Given the description of an element on the screen output the (x, y) to click on. 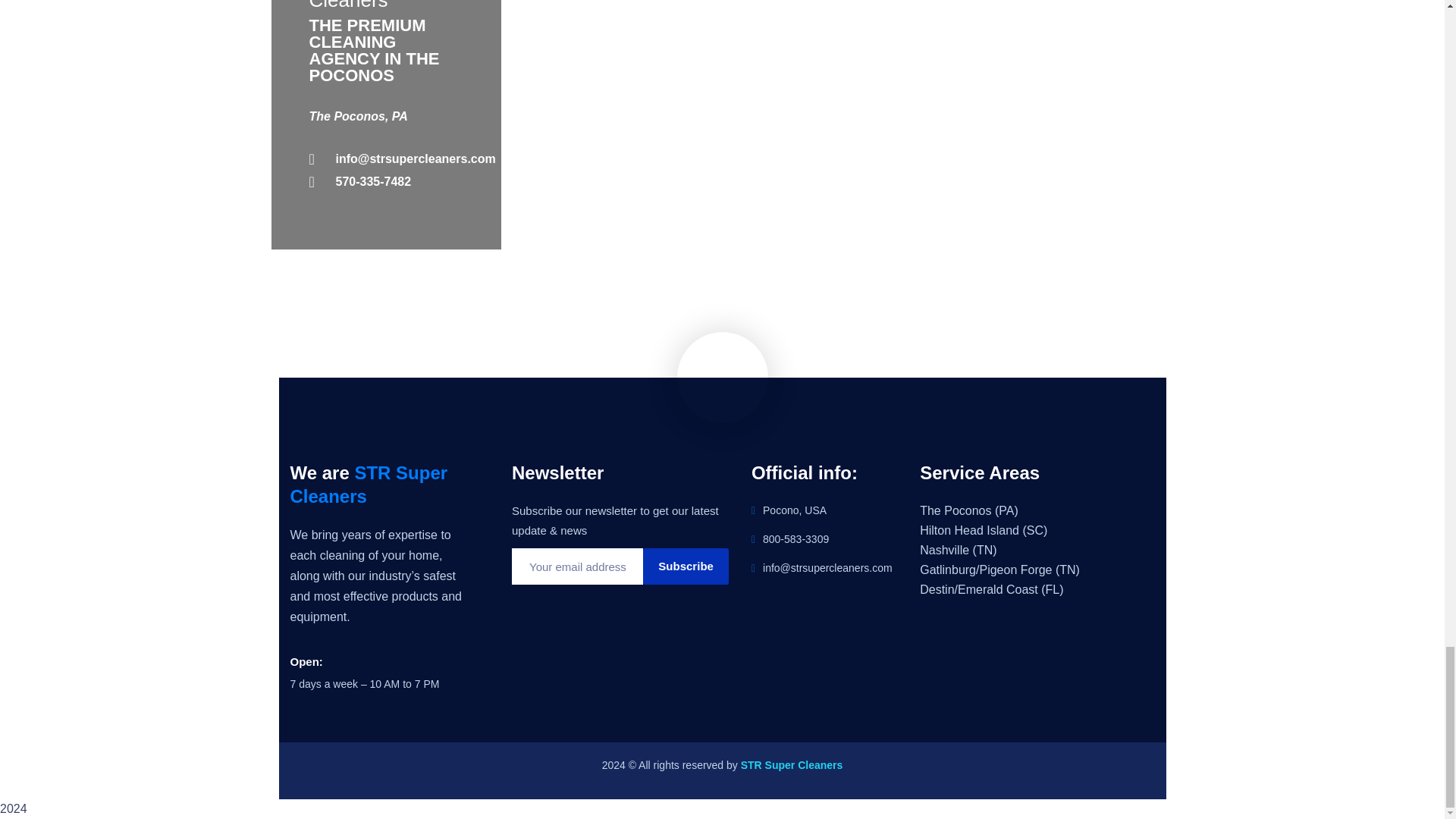
Subscribe (686, 565)
STR Super Cleaners (792, 765)
Subscribe (686, 565)
570-335-7482 (386, 181)
